Given the description of an element on the screen output the (x, y) to click on. 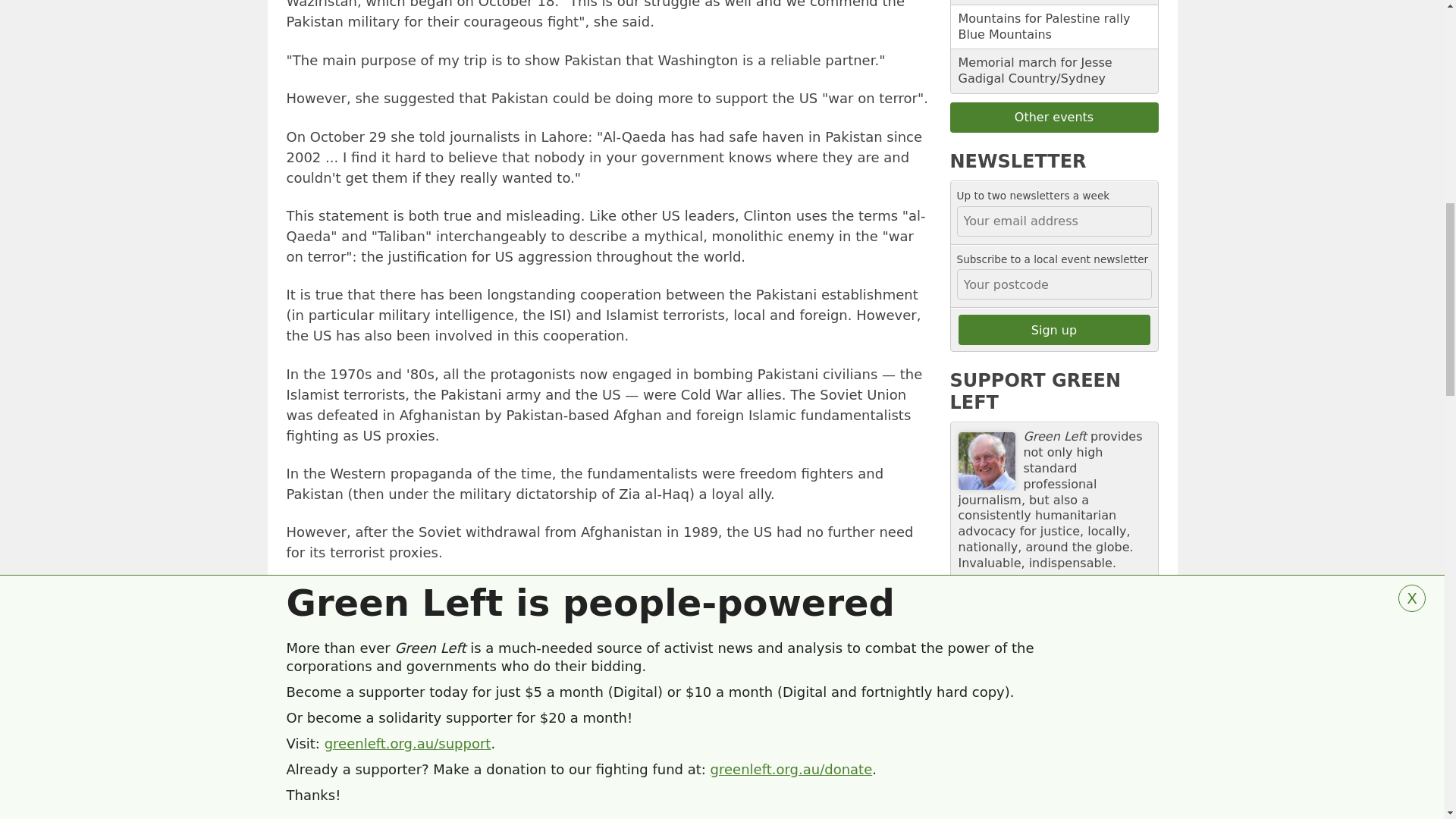
Sign up (1054, 329)
